Given the description of an element on the screen output the (x, y) to click on. 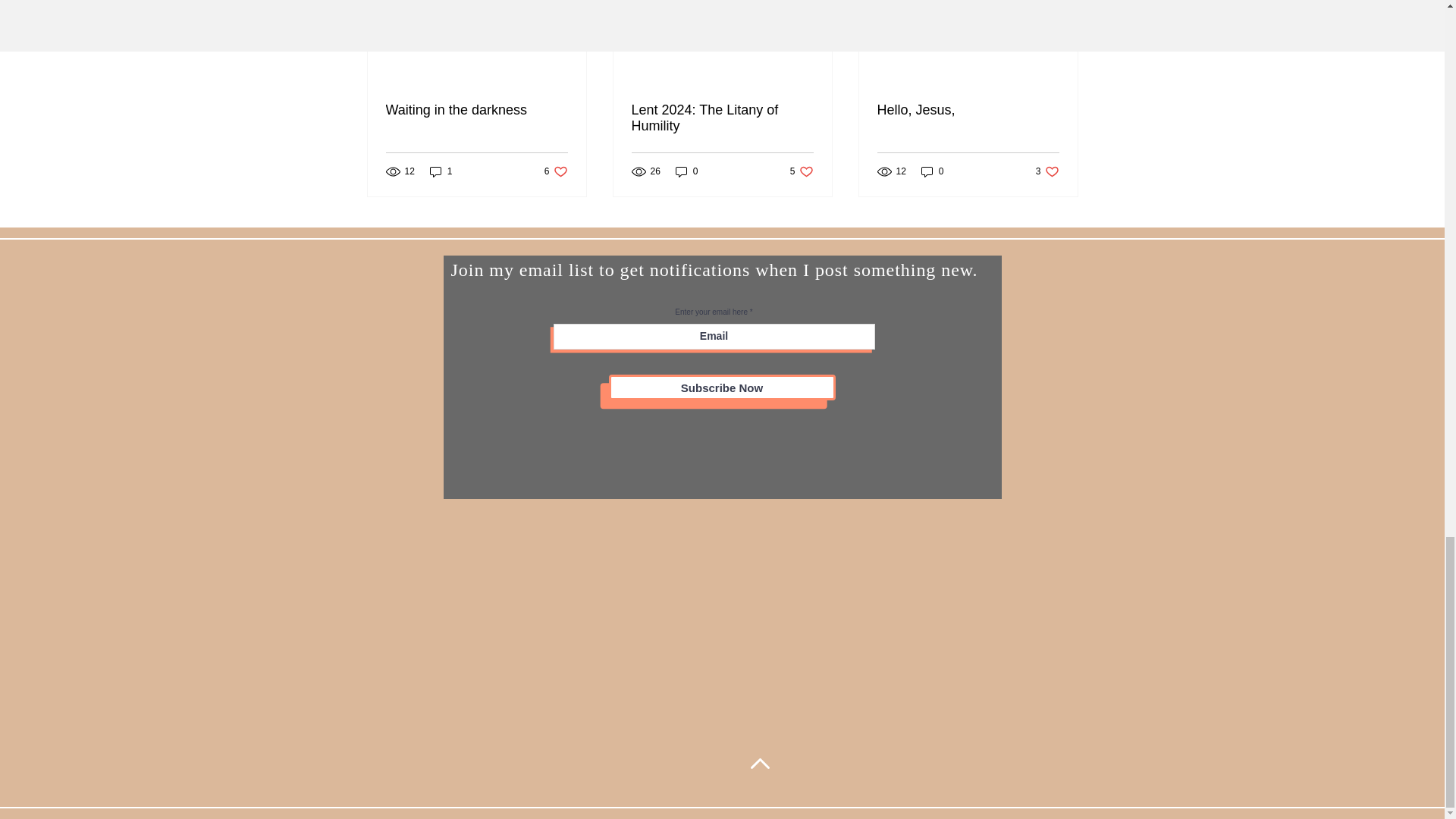
0 (687, 171)
Waiting in the darkness (555, 171)
1 (476, 109)
Lent 2024: The Litany of Humility (441, 171)
Hello, Jesus, (1047, 171)
0 (721, 118)
Subscribe Now (801, 171)
